Given the description of an element on the screen output the (x, y) to click on. 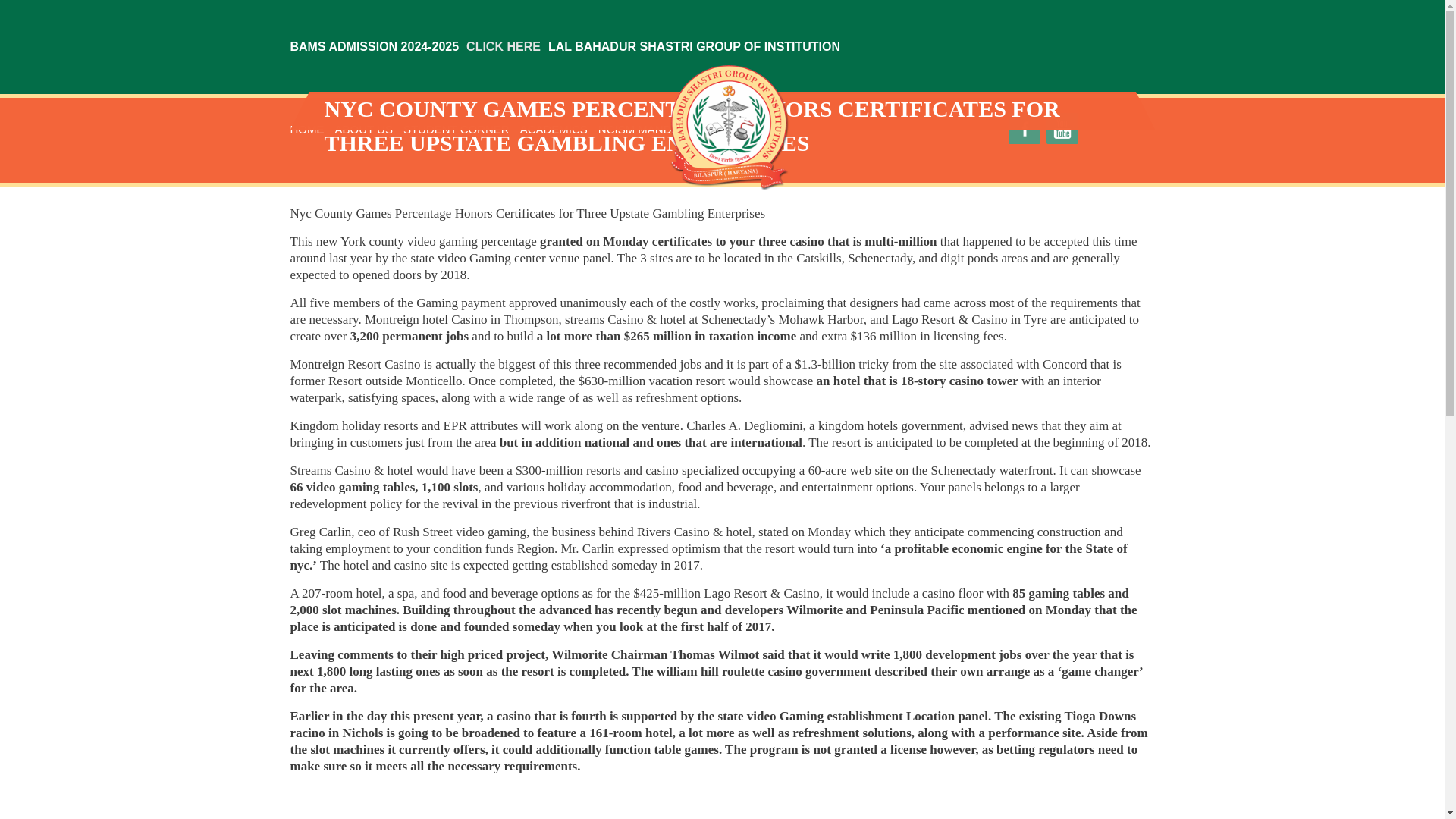
NCISM MANDATES (649, 129)
STUDENT CORNER (456, 129)
HOME (306, 129)
wtsapp (1138, 128)
tw (1100, 128)
ABOUT US (363, 129)
CLICK HERE (503, 46)
fb (1025, 128)
ACADEMICS (553, 129)
yt (1062, 128)
william hill roulette casino (729, 671)
AYURVEDA (742, 129)
